Given the description of an element on the screen output the (x, y) to click on. 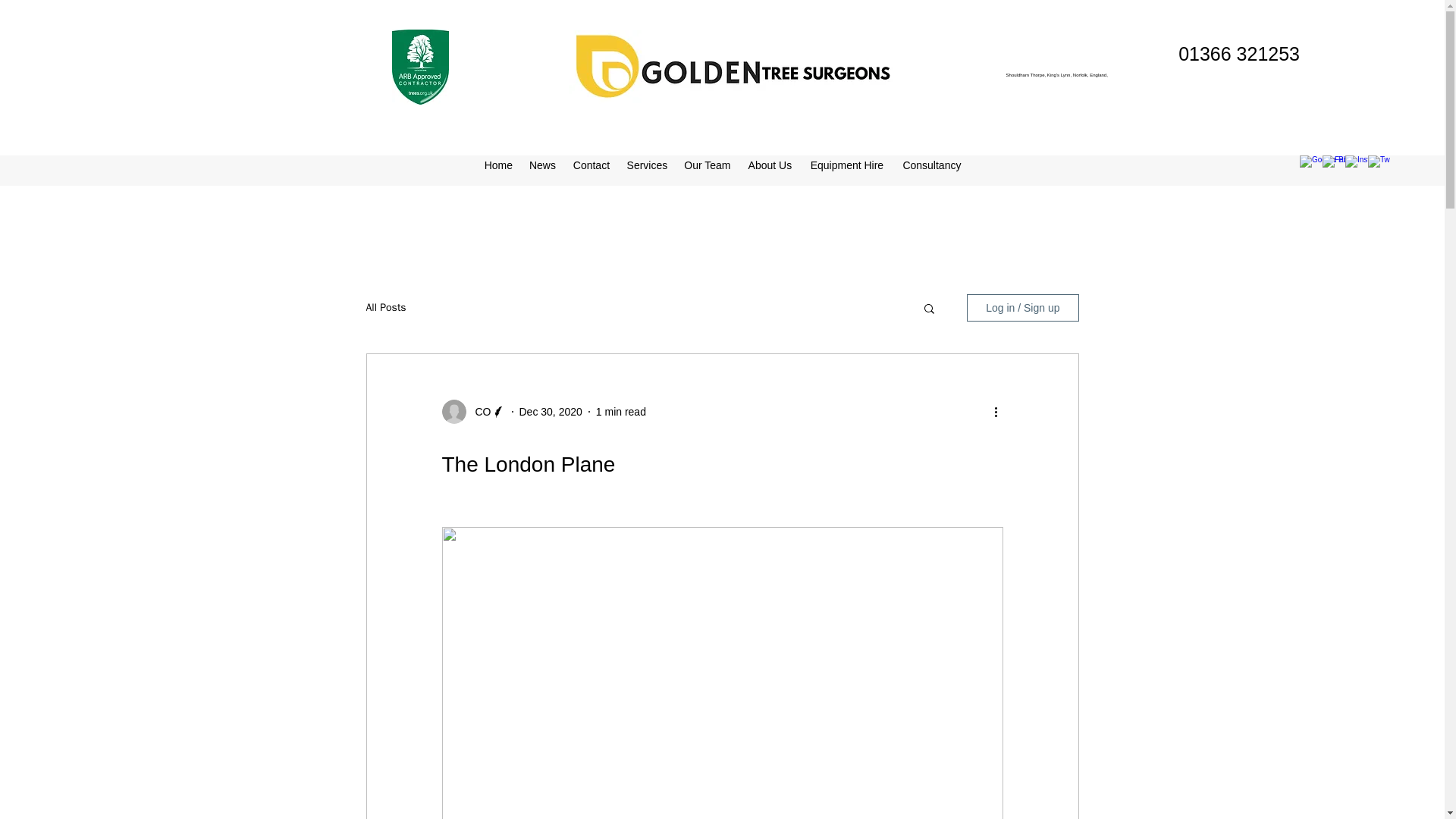
News (542, 164)
All Posts (385, 307)
Contact (591, 164)
Our Team (707, 164)
1 min read (620, 411)
Equipment Hire (846, 164)
CO (477, 412)
About Us (769, 164)
Home (498, 164)
Services (646, 164)
Consultancy (932, 164)
Dec 30, 2020 (549, 411)
